Given the description of an element on the screen output the (x, y) to click on. 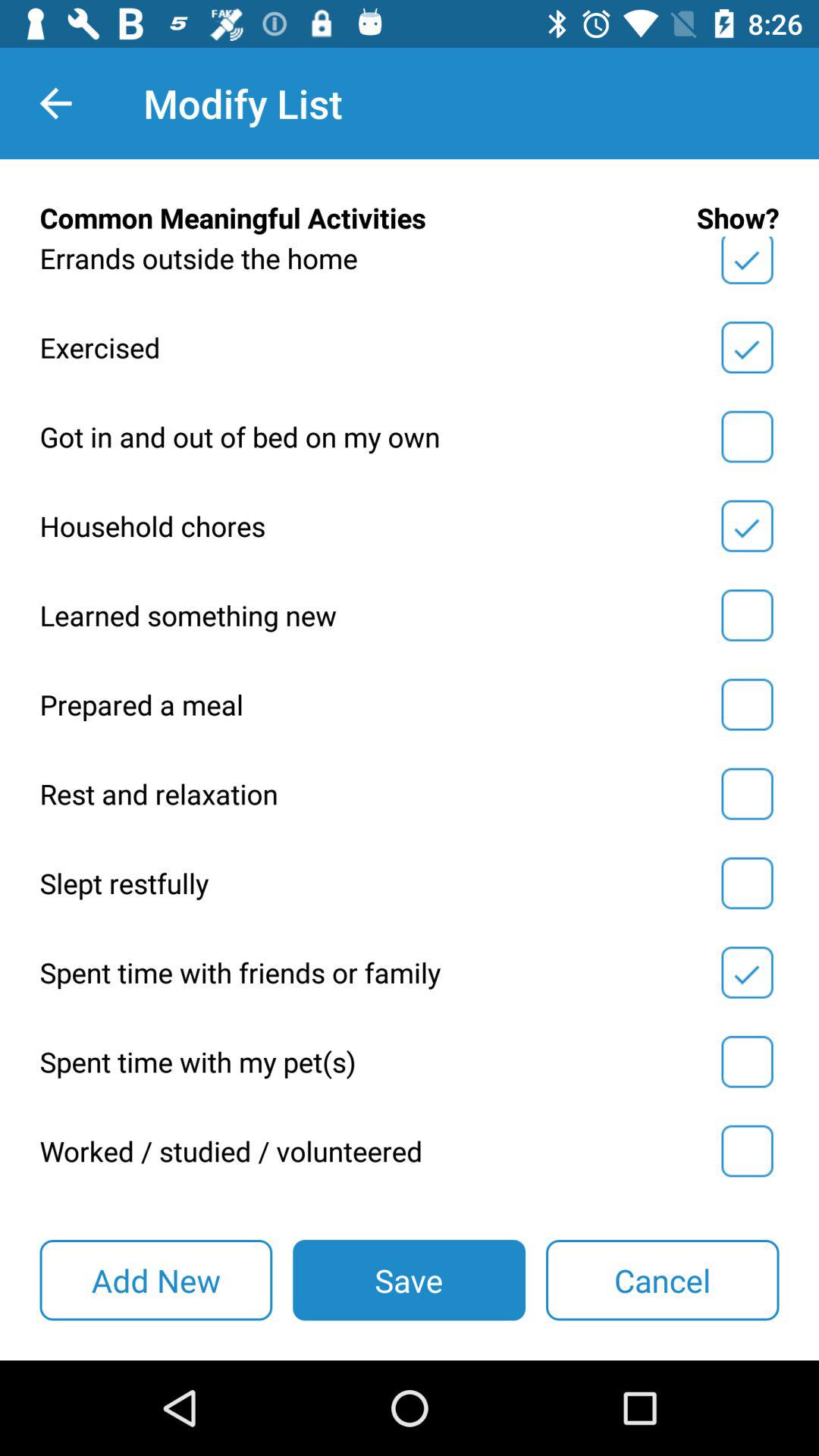
show activity (747, 793)
